Given the description of an element on the screen output the (x, y) to click on. 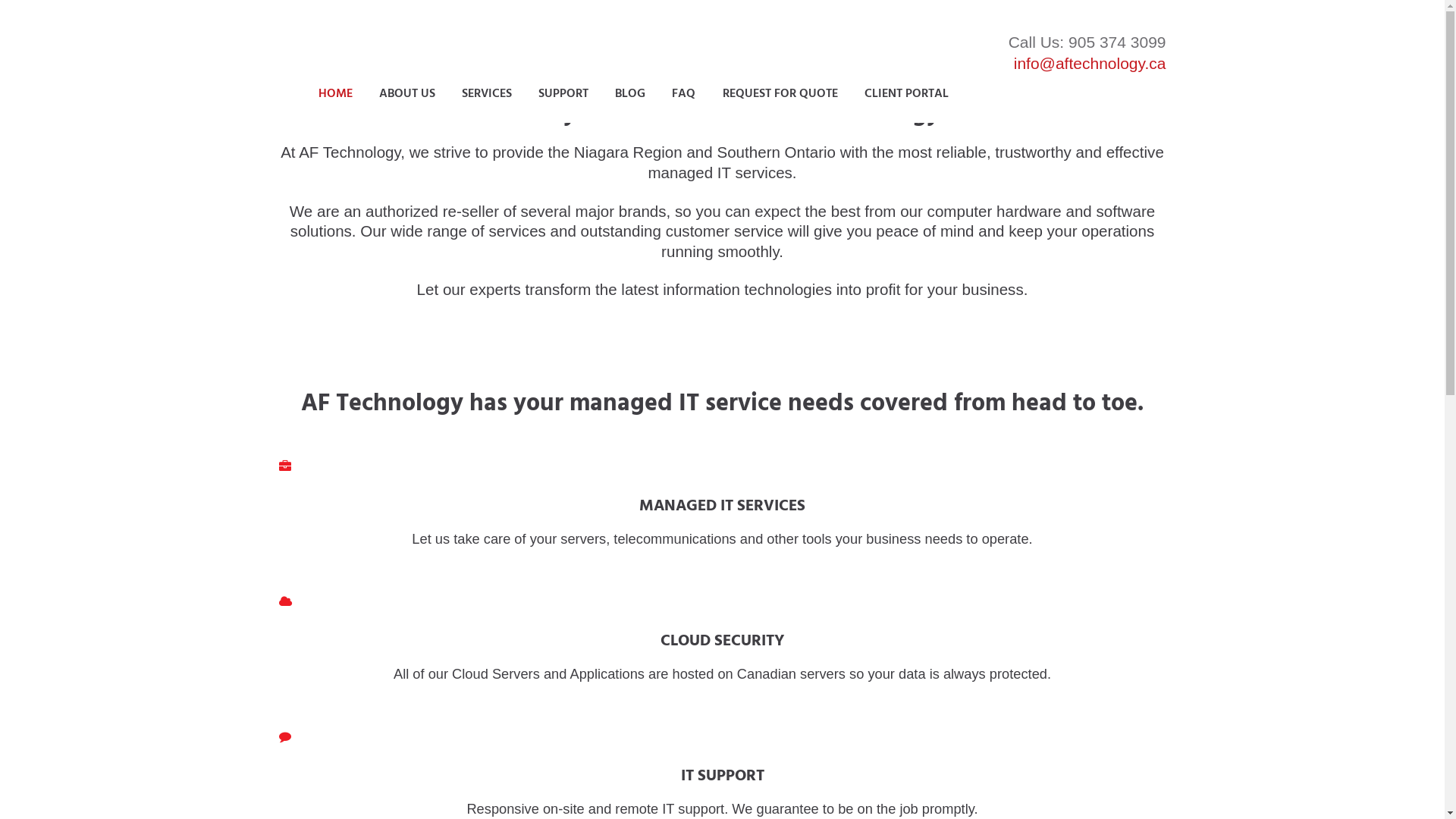
REQUEST FOR QUOTE Element type: text (779, 93)
ABOUT US Element type: text (406, 93)
SUPPORT Element type: text (562, 93)
FAQ Element type: text (683, 93)
CLOUD SECURITY Element type: text (721, 640)
BLOG Element type: text (630, 93)
CLIENT PORTAL Element type: text (905, 93)
HOME Element type: text (334, 93)
MANAGED IT SERVICES Element type: text (722, 505)
SERVICES Element type: text (486, 93)
info@aftechnology.ca Element type: text (1089, 63)
IT SUPPORT Element type: text (722, 775)
